Given the description of an element on the screen output the (x, y) to click on. 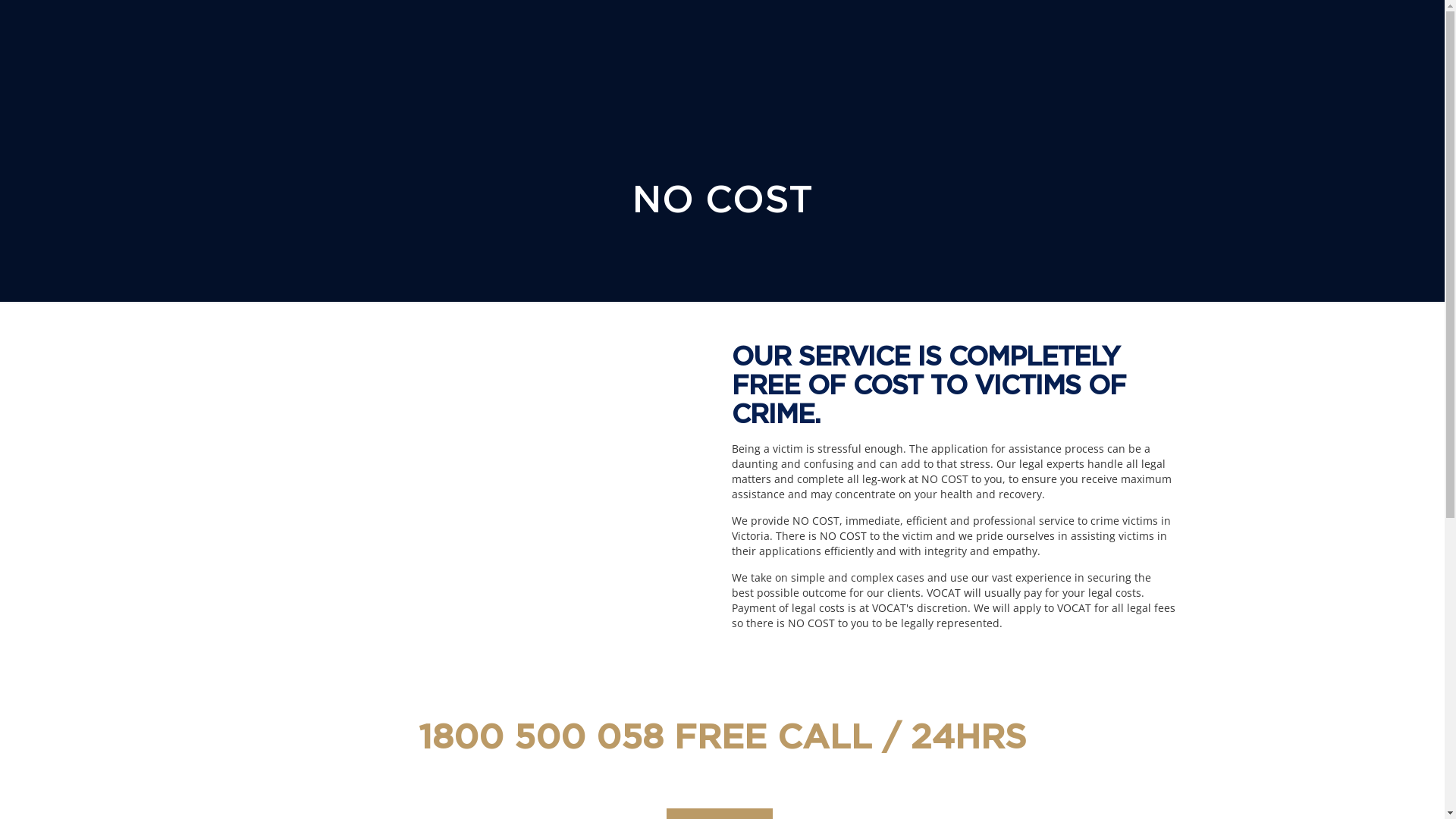
info@crimevictims.com.au Element type: text (380, 671)
OTHER ENTITLEMENTS Element type: text (562, 667)
ASSISTANCE AVAILABLE Element type: text (668, 652)
WHO IS A VICTIM? Element type: text (668, 637)
HOME Element type: text (562, 637)
CONTACT US Element type: text (668, 682)
RESOURCES Element type: text (562, 682)
03 9077 7040 Element type: text (389, 630)
OUR PROCESS Element type: text (562, 652)
eTraffic Web Design Element type: text (1116, 790)
NO COST Element type: text (668, 667)
